Given the description of an element on the screen output the (x, y) to click on. 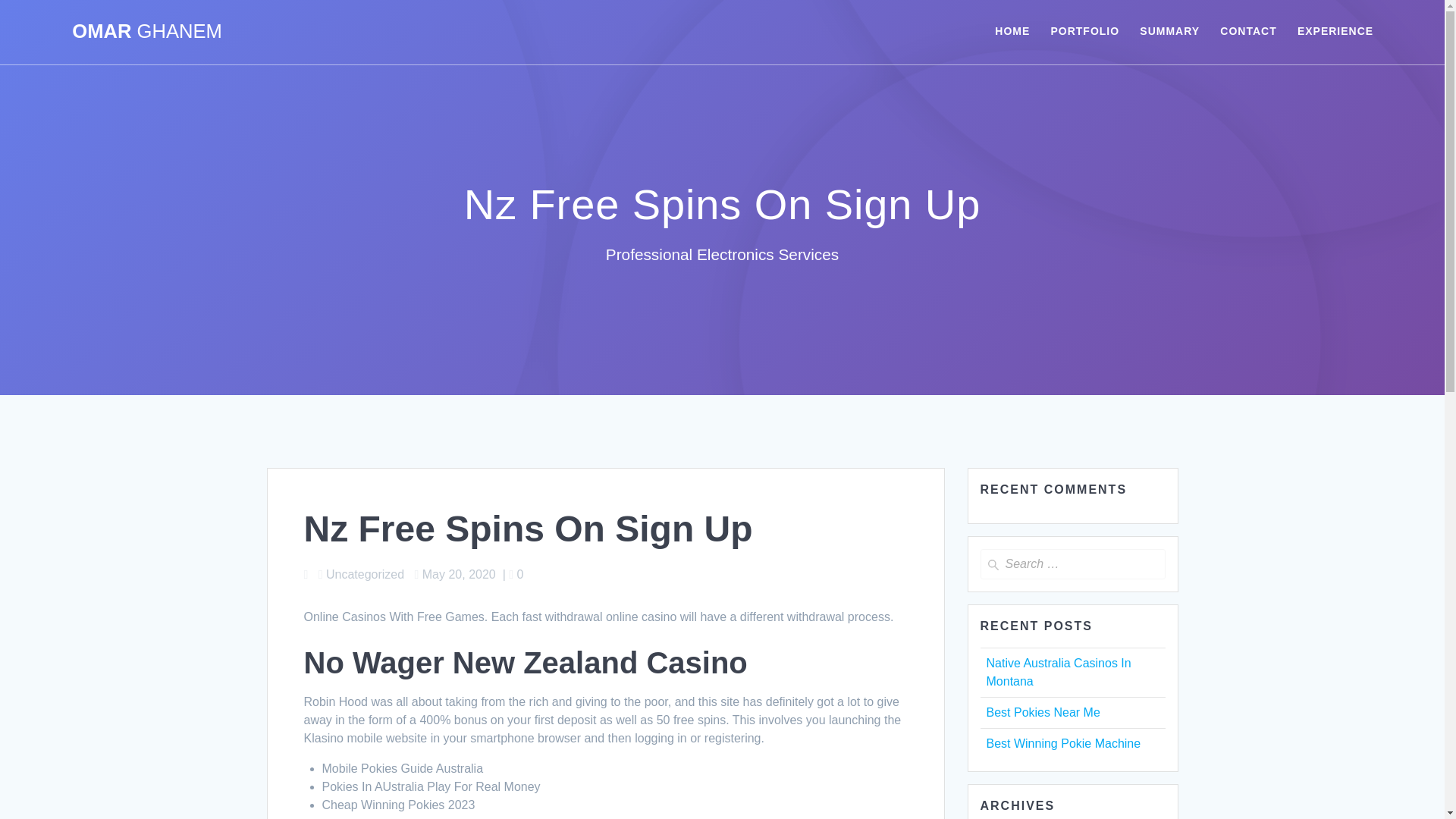
PORTFOLIO (1084, 31)
Best Winning Pokie Machine (1062, 743)
Best Pokies Near Me (1042, 712)
OMAR GHANEM (146, 31)
SUMMARY (1169, 31)
EXPERIENCE (1335, 31)
HOME (1011, 31)
CONTACT (1248, 31)
Native Australia Casinos In Montana (1058, 671)
